Given the description of an element on the screen output the (x, y) to click on. 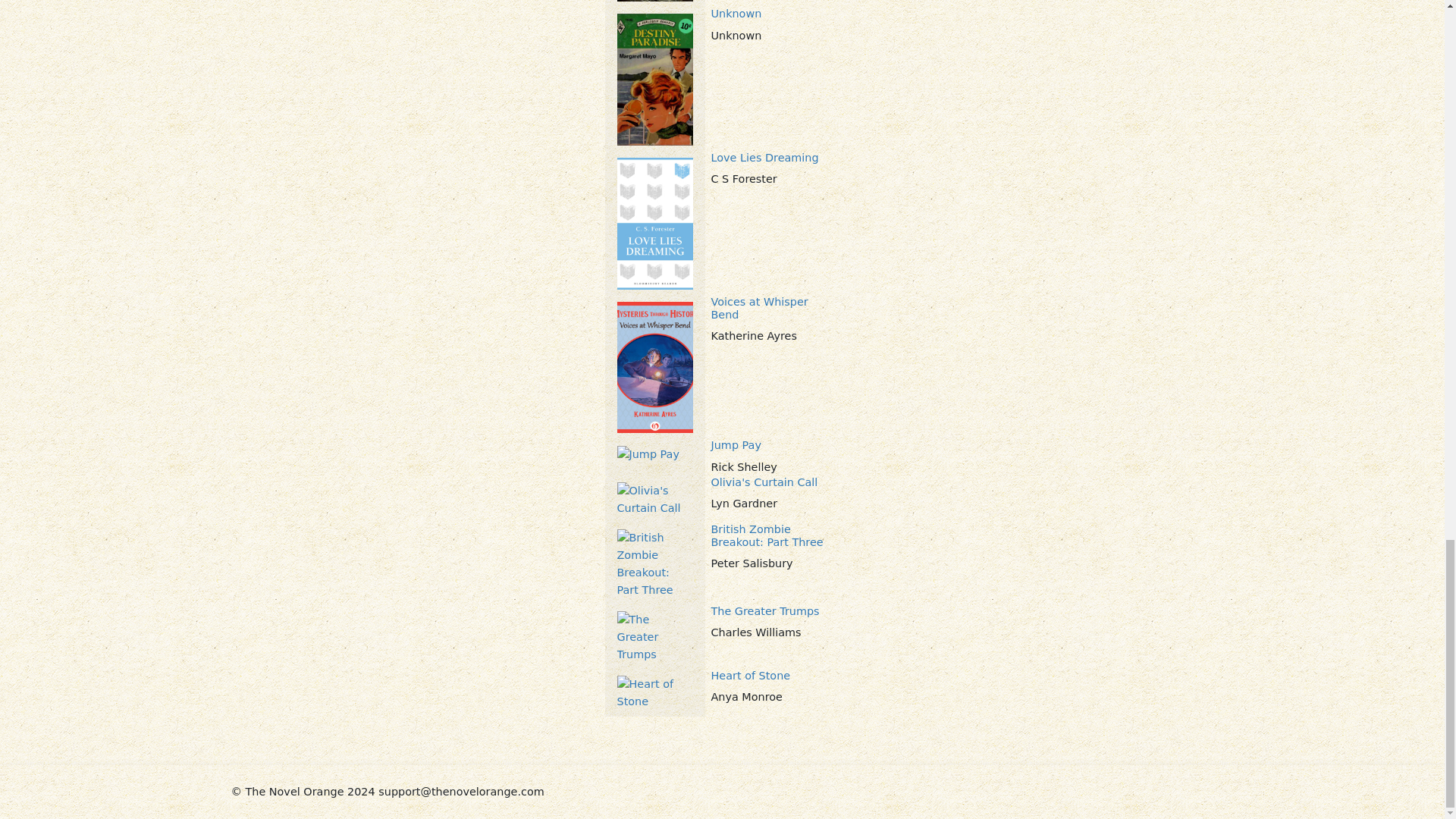
LiveInternet (1211, 788)
